Given the description of an element on the screen output the (x, y) to click on. 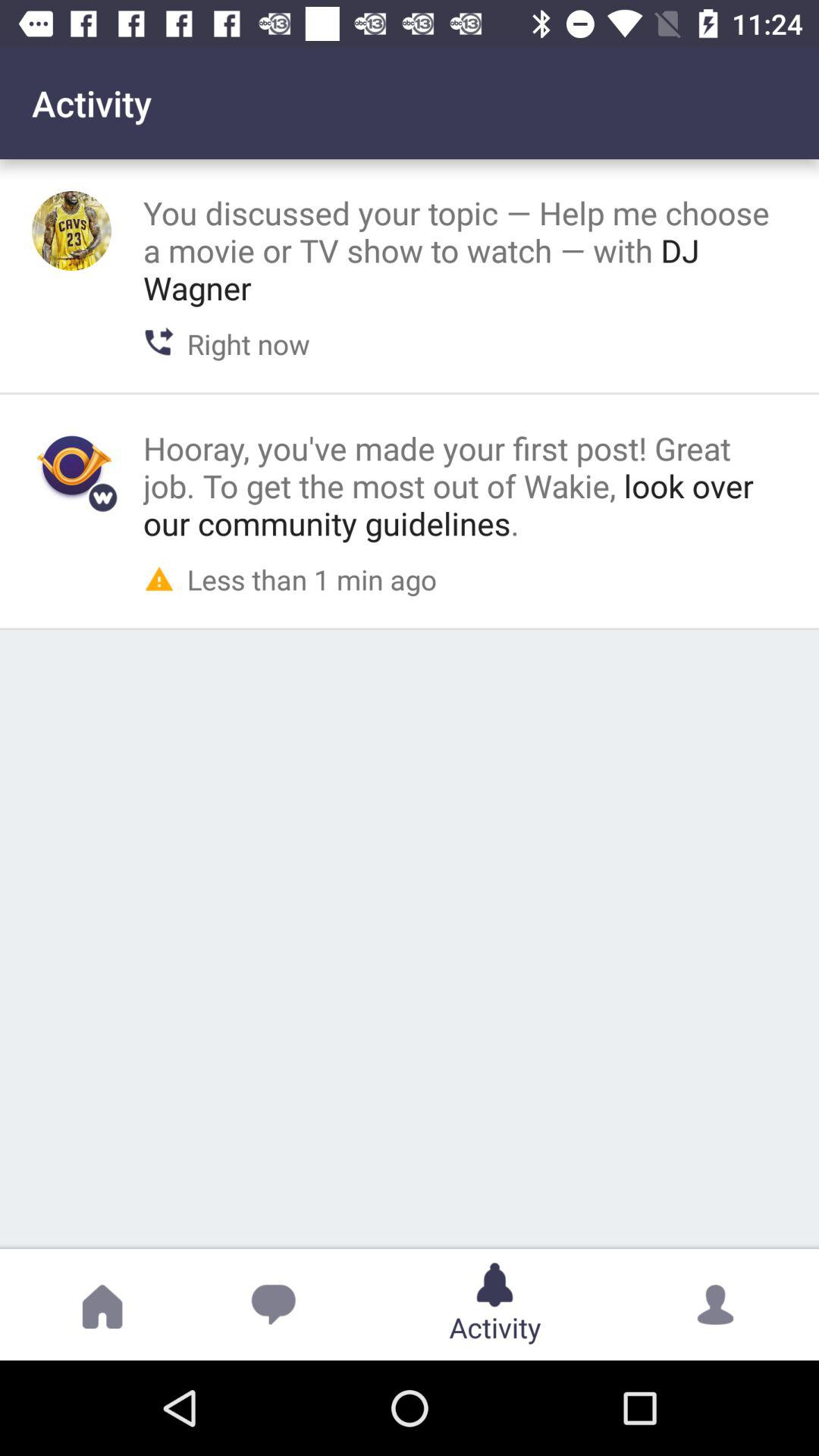
go to profile (71, 466)
